Given the description of an element on the screen output the (x, y) to click on. 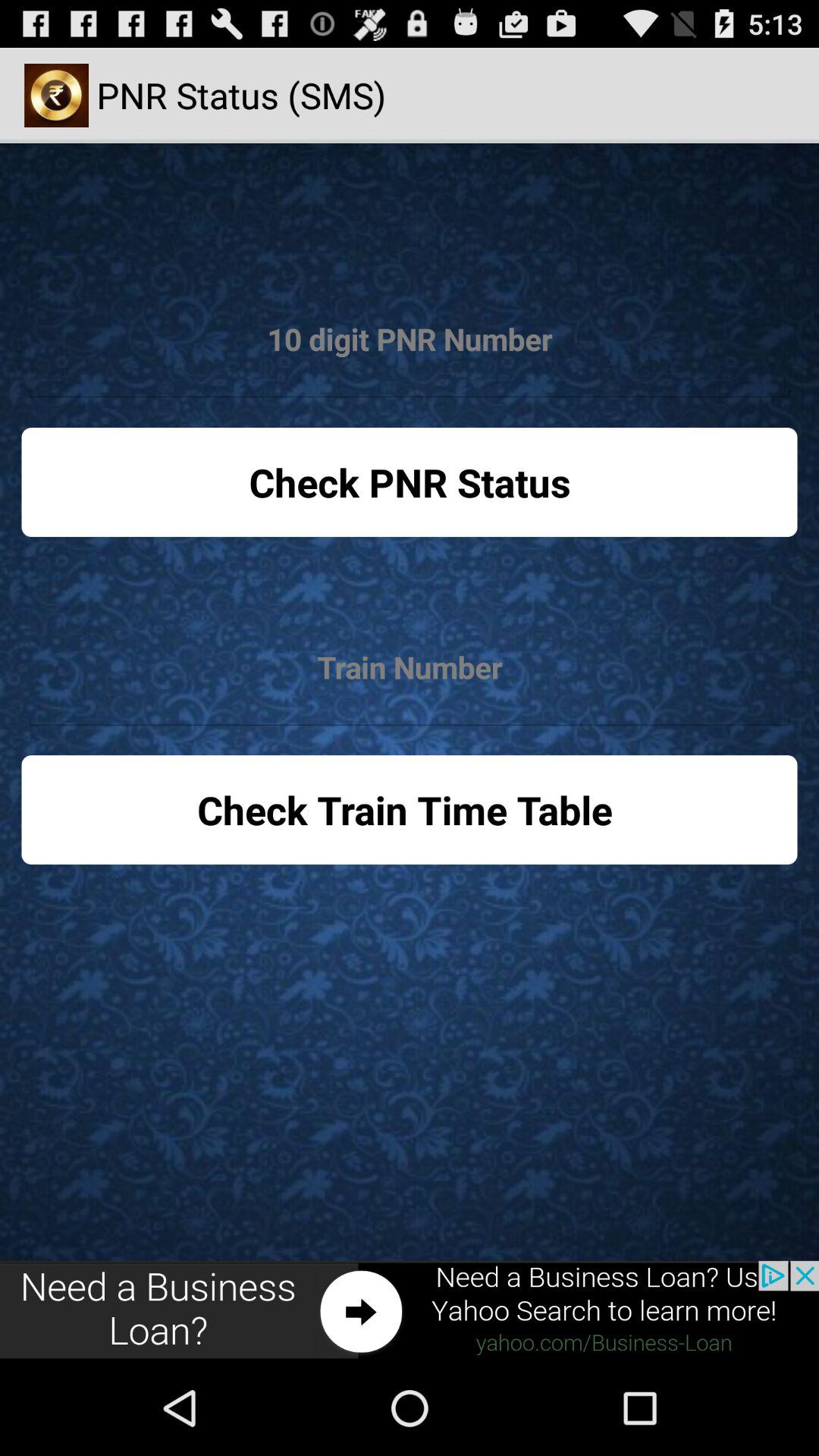
advertisement (409, 1310)
